Given the description of an element on the screen output the (x, y) to click on. 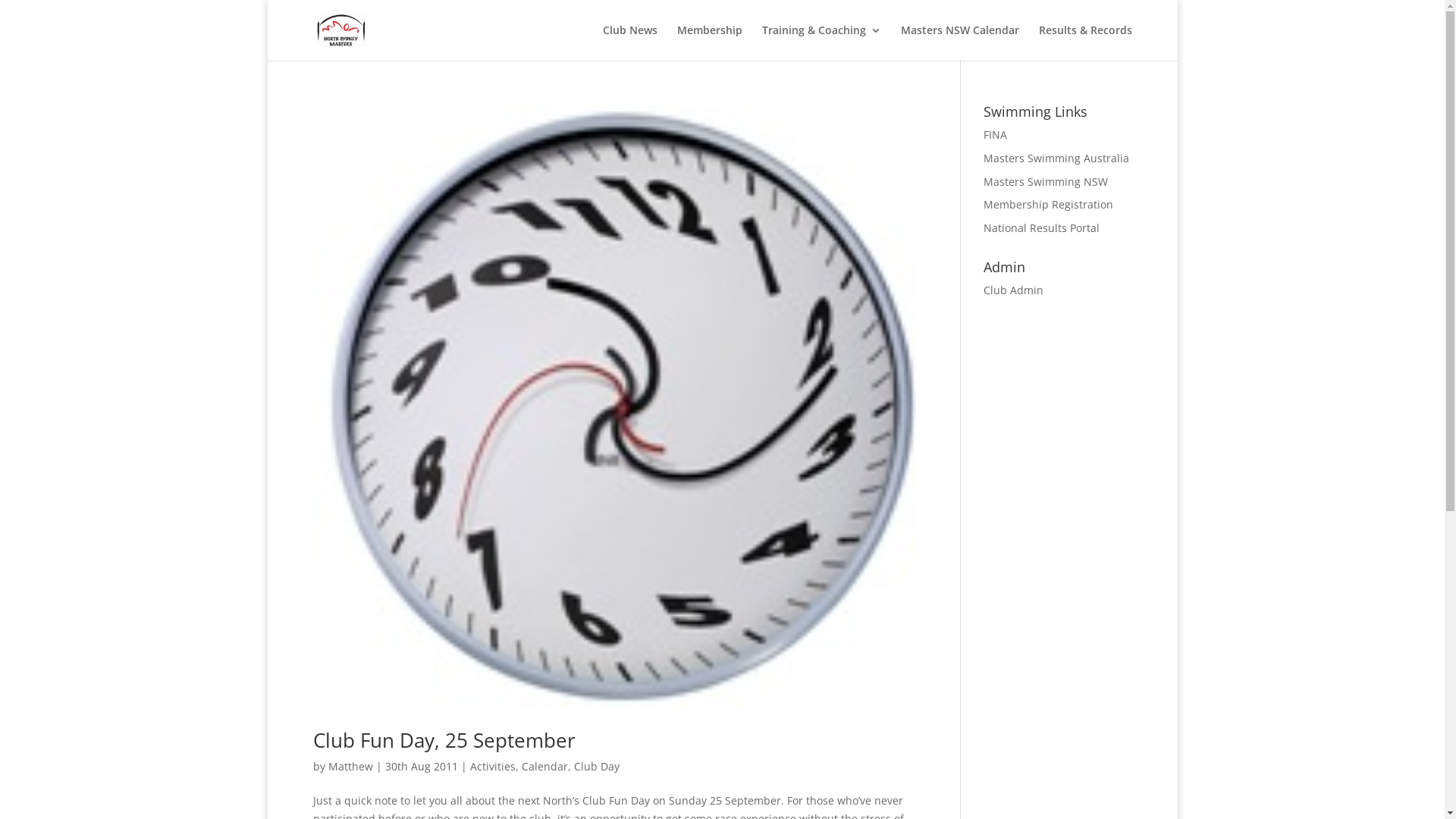
Masters Swimming NSW Element type: text (1045, 181)
Calendar Element type: text (544, 766)
Training & Coaching Element type: text (820, 42)
Club Fun Day, 25 September Element type: text (443, 739)
Matthew Element type: text (349, 766)
Results & Records Element type: text (1085, 42)
Club News Element type: text (629, 42)
Masters Swimming Australia Element type: text (1056, 157)
Membership Registration Element type: text (1048, 204)
Club Day Element type: text (595, 766)
National Results Portal Element type: text (1041, 227)
FINA Element type: text (995, 134)
Membership Element type: text (708, 42)
Activities Element type: text (492, 766)
Masters NSW Calendar Element type: text (959, 42)
Club Admin Element type: text (1013, 289)
